Given the description of an element on the screen output the (x, y) to click on. 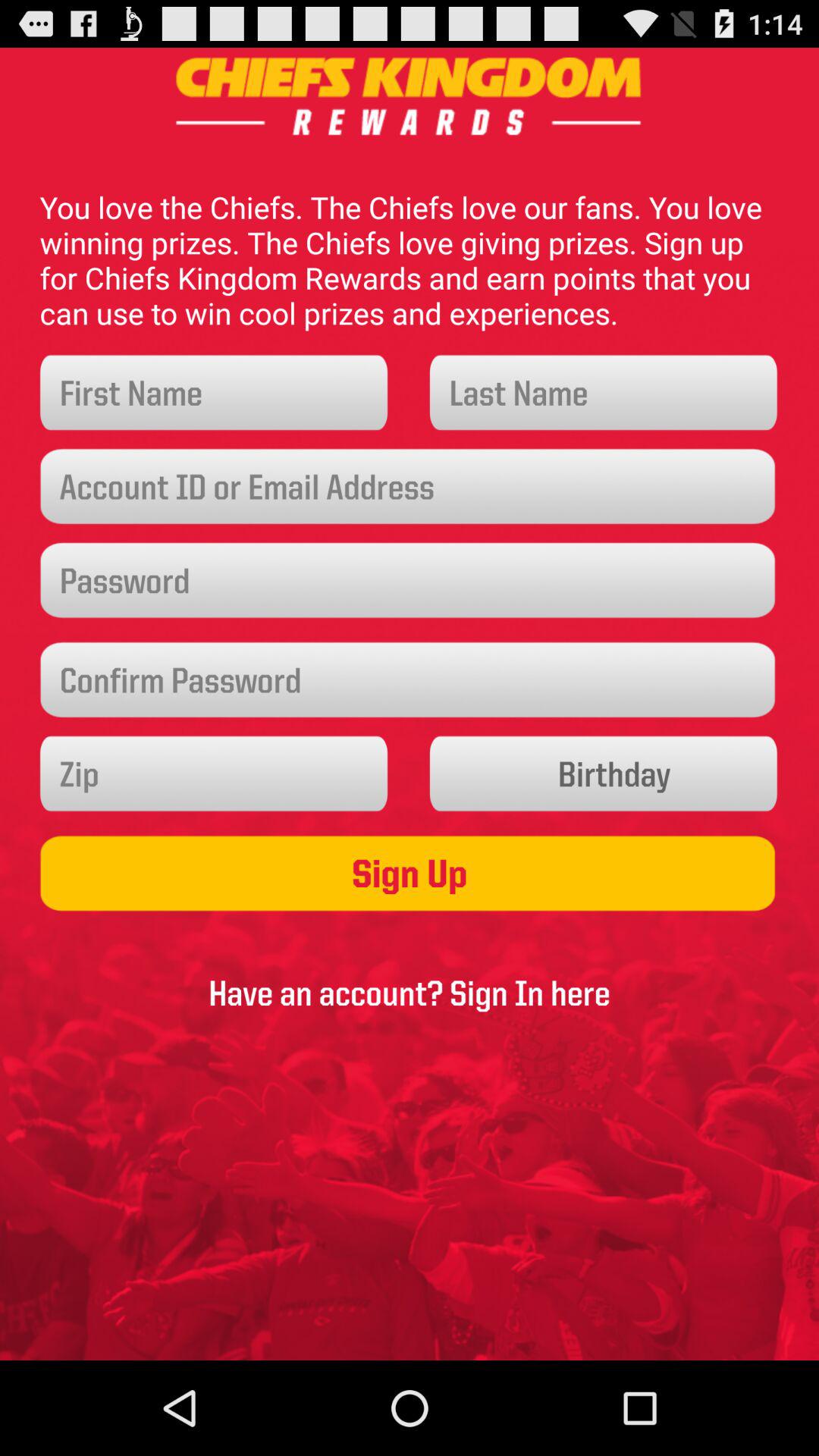
account id or email entry (409, 486)
